Given the description of an element on the screen output the (x, y) to click on. 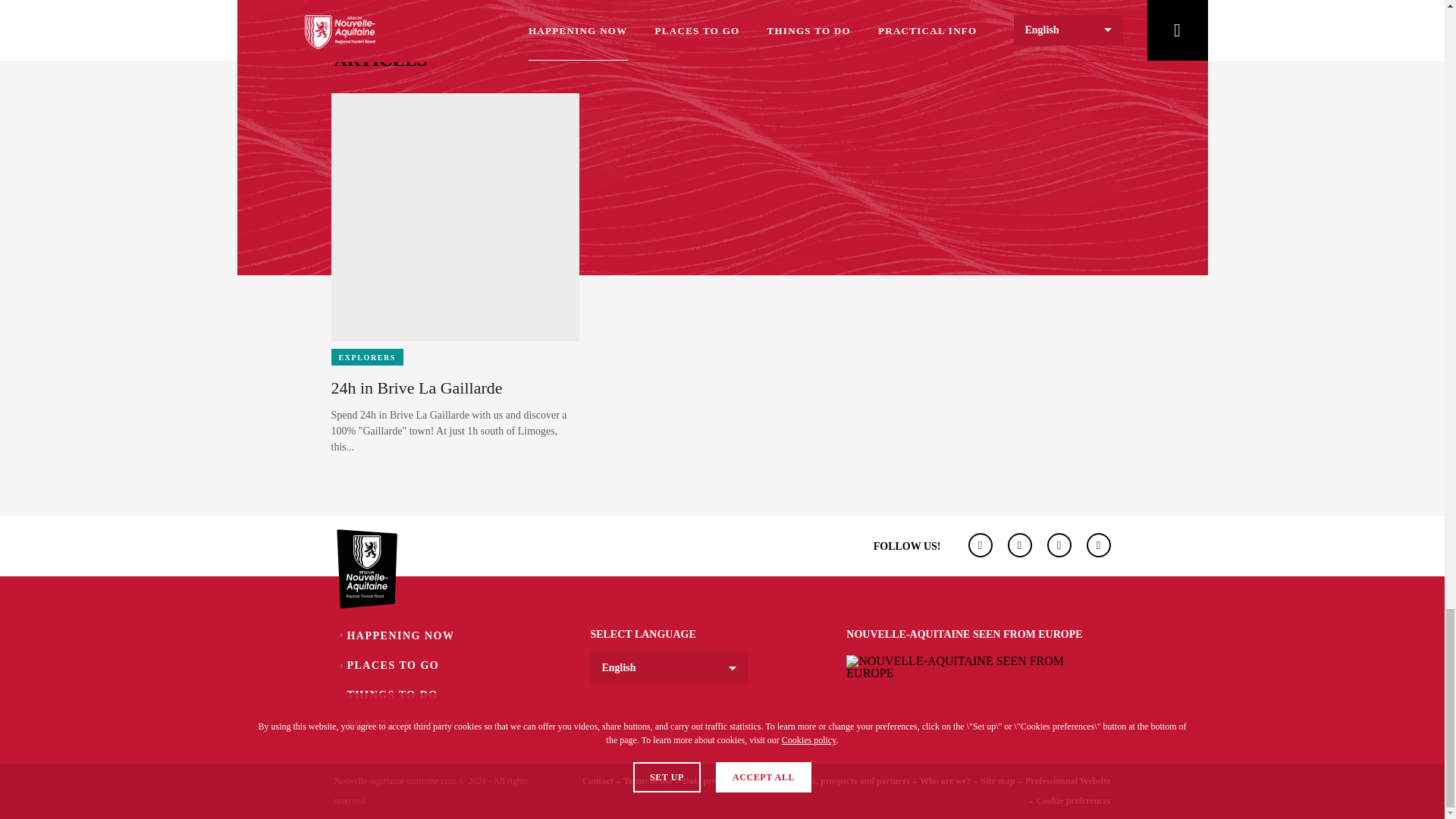
Explorers (366, 355)
24h in Brive La Gaillarde (416, 387)
